Given the description of an element on the screen output the (x, y) to click on. 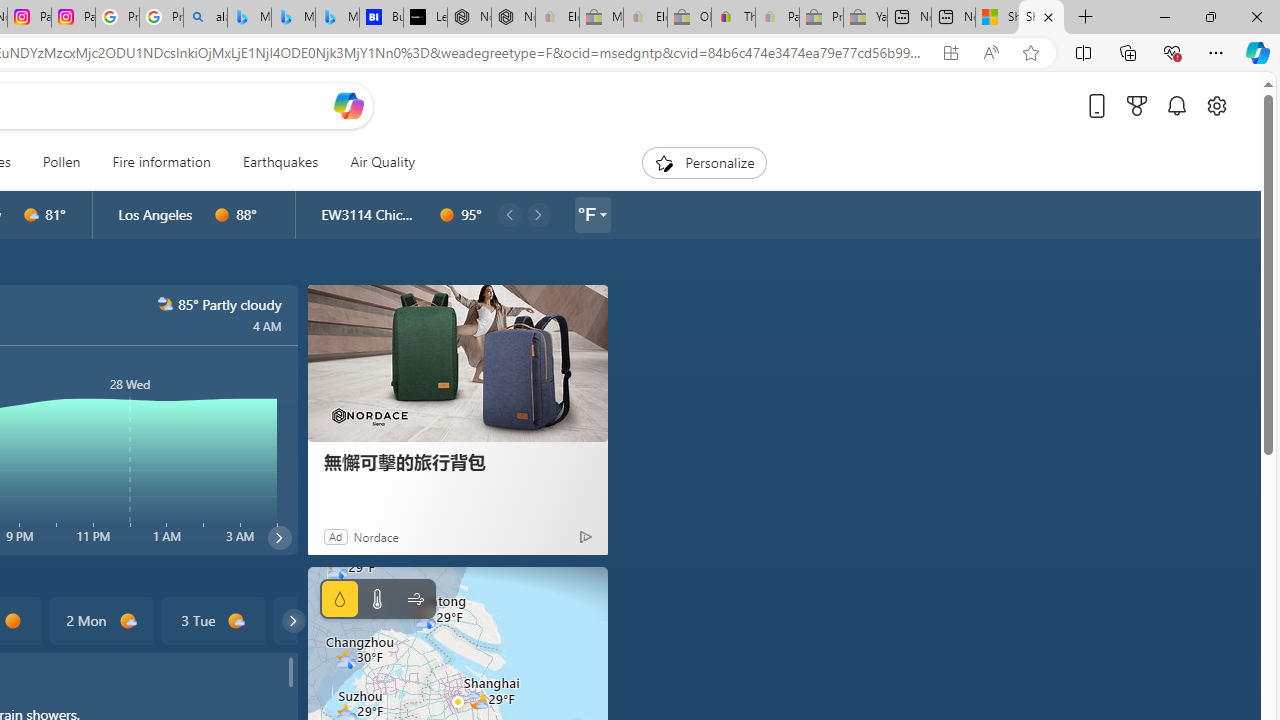
Press Room - eBay Inc. - Sleeping (821, 17)
Fire information (161, 162)
Air Quality (375, 162)
Microsoft Bing Travel - Flights from Hong Kong to Bangkok (249, 17)
locationBar/triangle (602, 214)
